Given the description of an element on the screen output the (x, y) to click on. 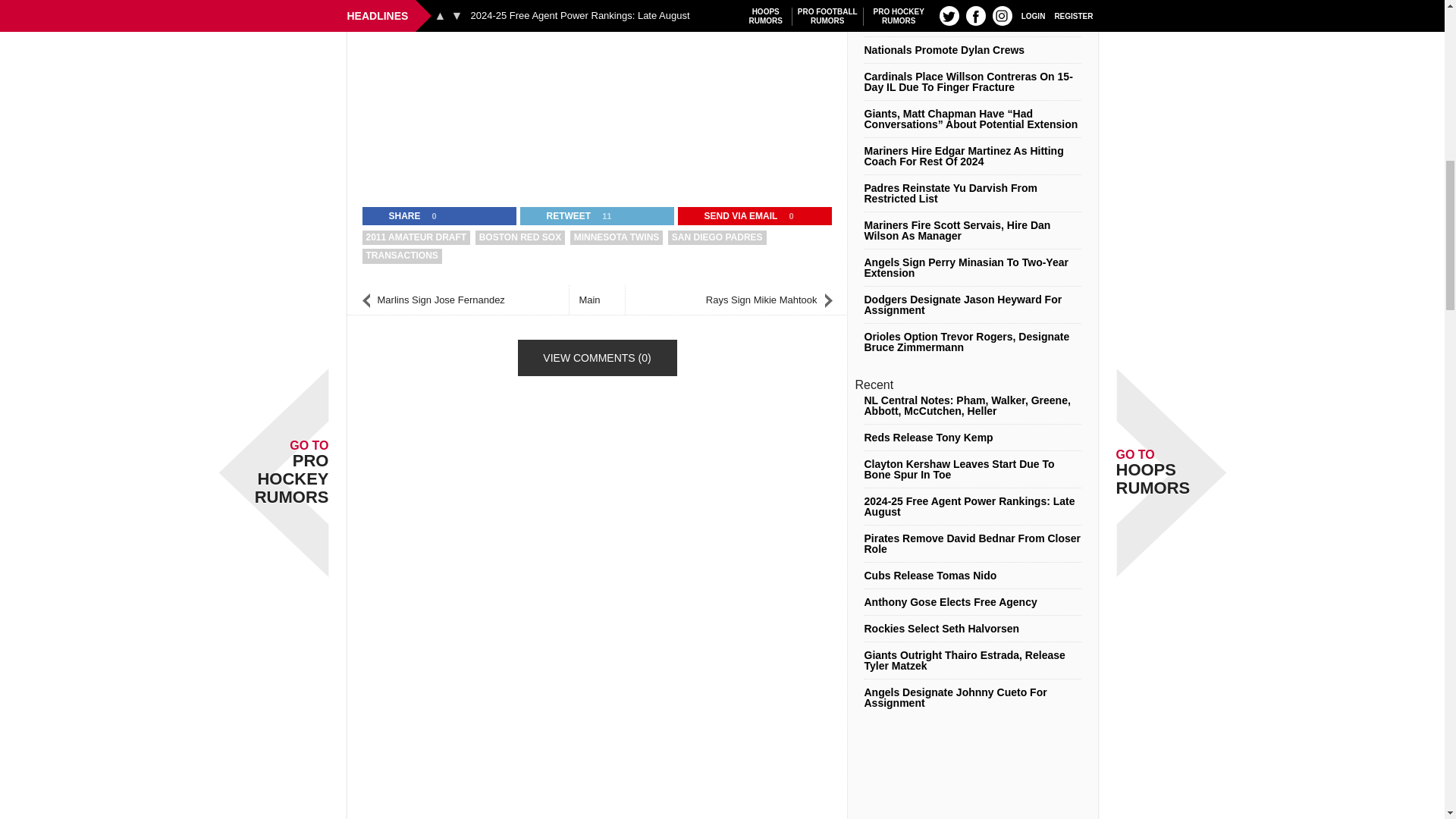
Send Supplemental Draft Pick Signings with an email (732, 216)
Retweet 'Supplemental Draft Pick Signings' on Twitter (558, 216)
Share 'Supplemental Draft Pick Signings' on Facebook (395, 216)
